Given the description of an element on the screen output the (x, y) to click on. 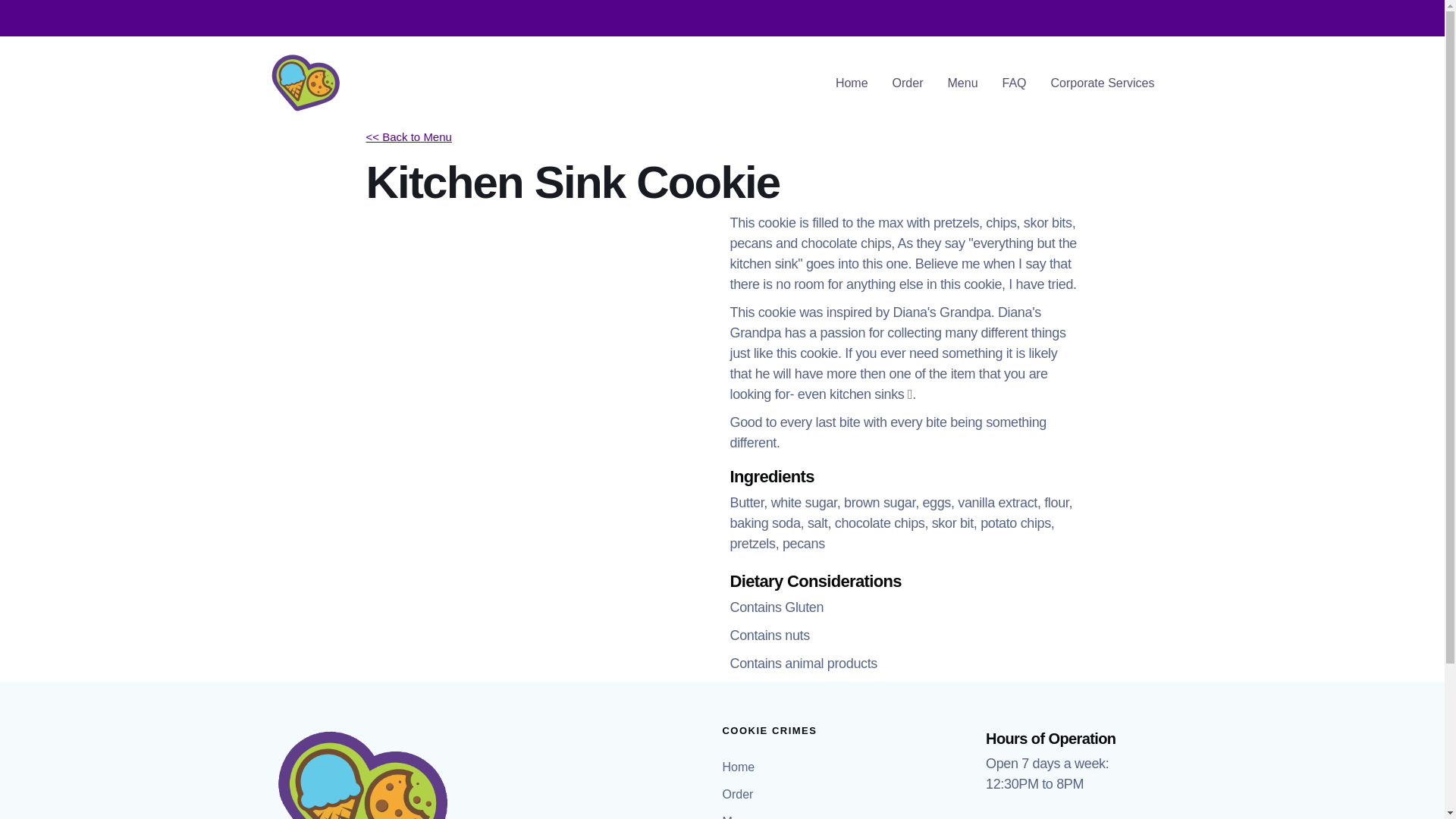
Menu (963, 83)
Order (739, 794)
Menu (739, 813)
Order (908, 83)
Home (852, 83)
FAQ (1014, 83)
Corporate Services (1103, 83)
Home (740, 767)
